Given the description of an element on the screen output the (x, y) to click on. 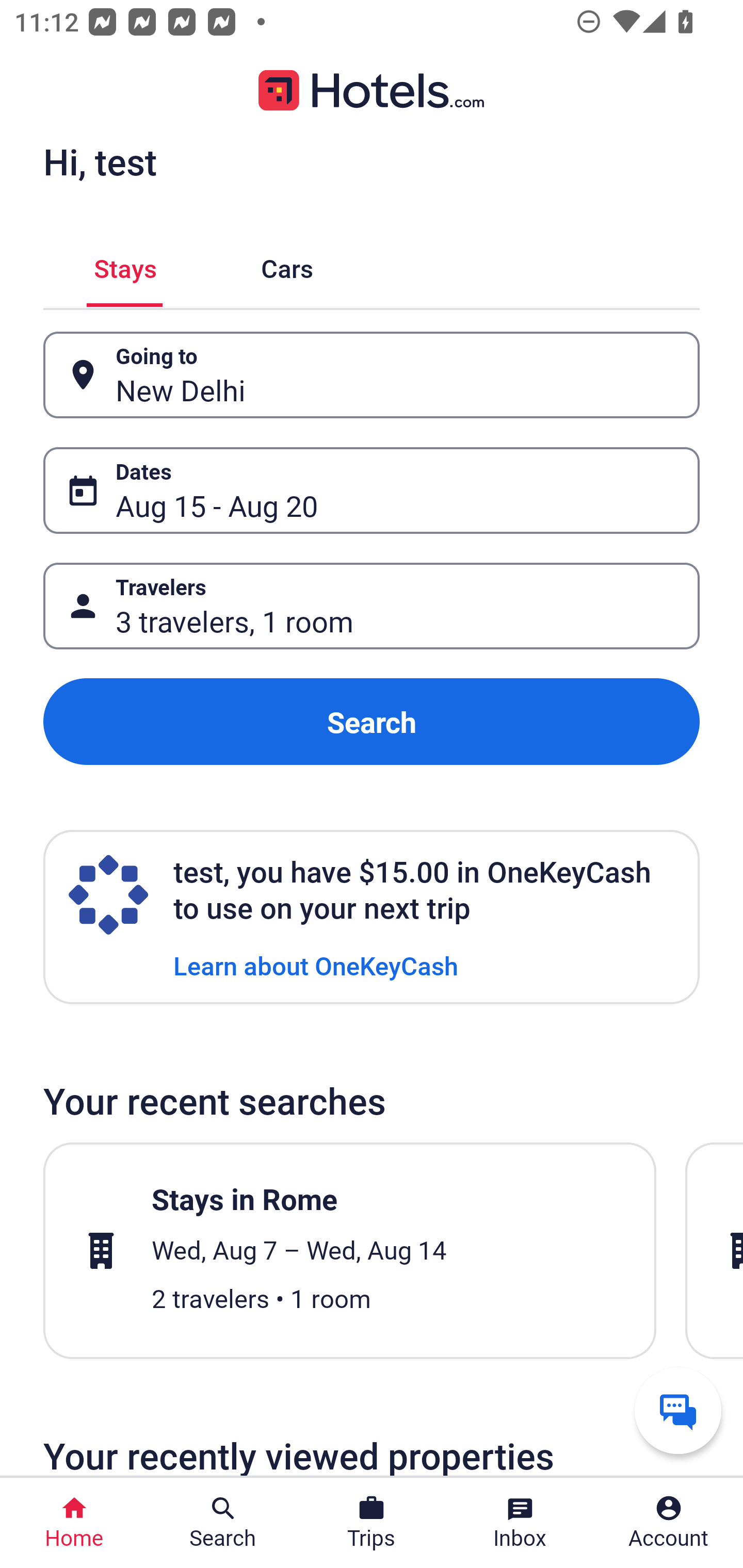
Hi, test (99, 161)
Cars (286, 265)
Going to Button New Delhi (371, 375)
Dates Button Aug 15 - Aug 20 (371, 489)
Travelers Button 3 travelers, 1 room (371, 605)
Search (371, 721)
Learn about OneKeyCash Learn about OneKeyCash Link (315, 964)
Get help from a virtual agent (677, 1410)
Search Search Button (222, 1522)
Trips Trips Button (371, 1522)
Inbox Inbox Button (519, 1522)
Account Profile. Button (668, 1522)
